Given the description of an element on the screen output the (x, y) to click on. 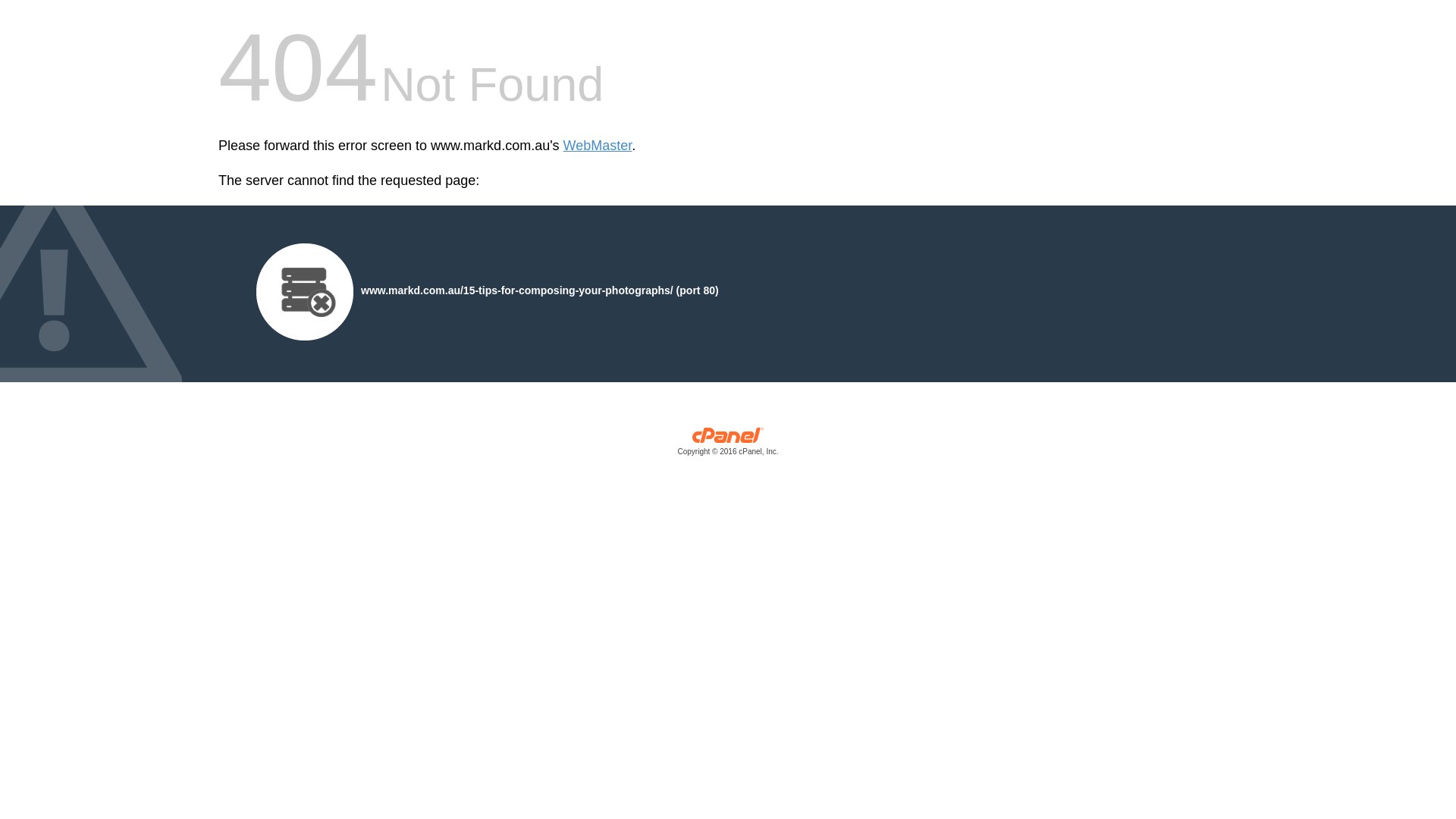
WebMaster Element type: text (597, 145)
